Given the description of an element on the screen output the (x, y) to click on. 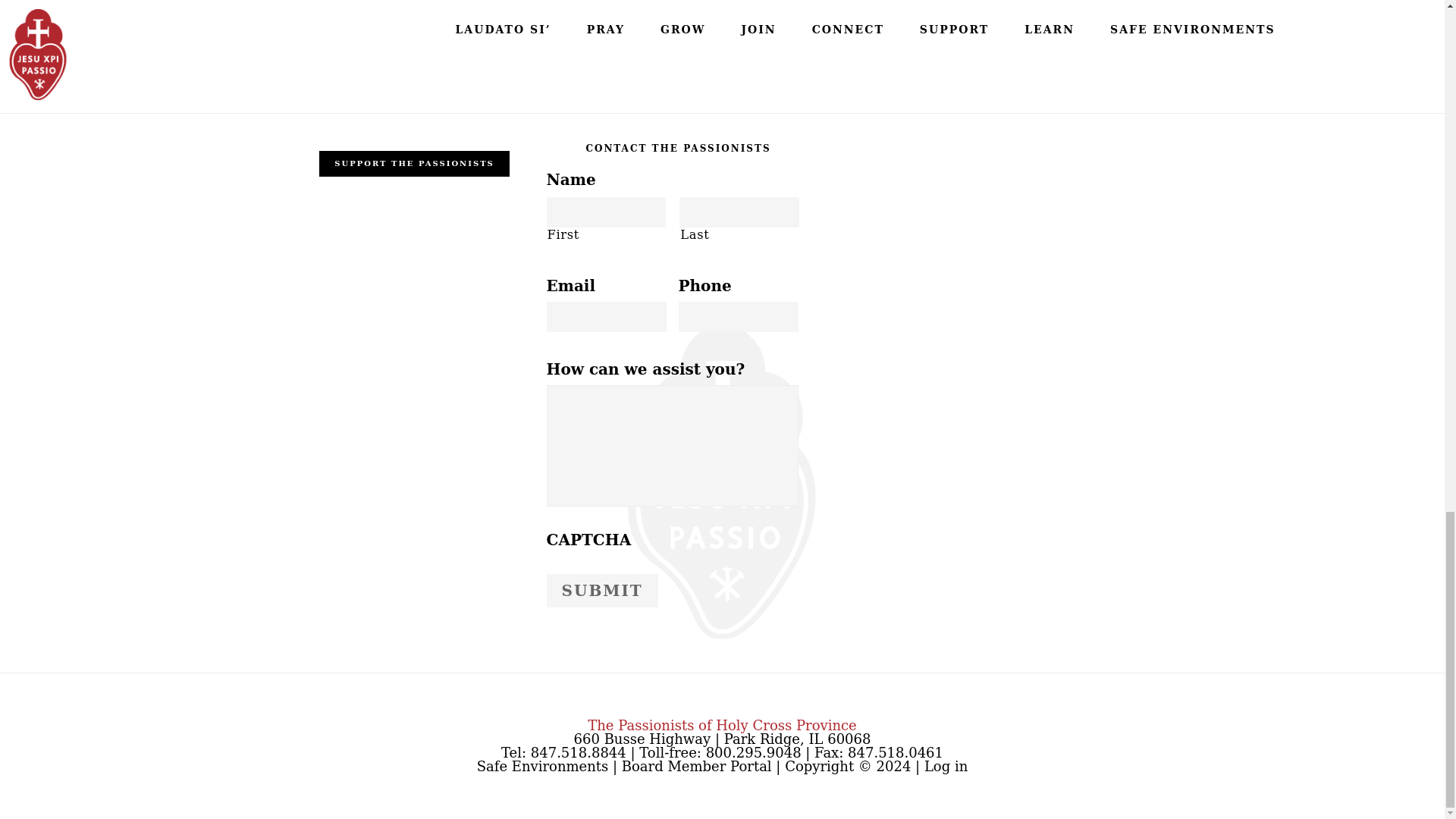
Submit (602, 590)
